Given the description of an element on the screen output the (x, y) to click on. 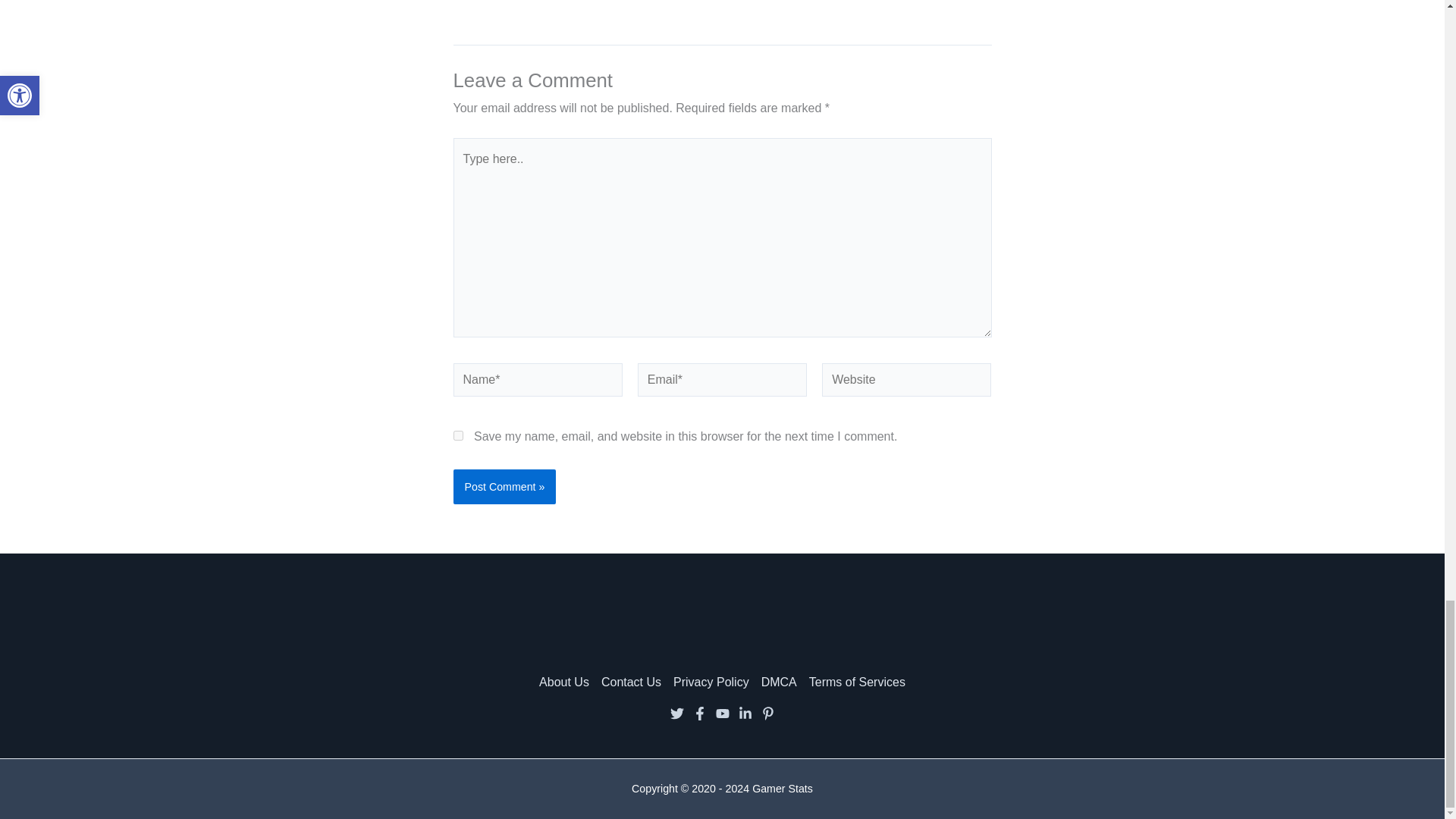
yes (457, 435)
